Given the description of an element on the screen output the (x, y) to click on. 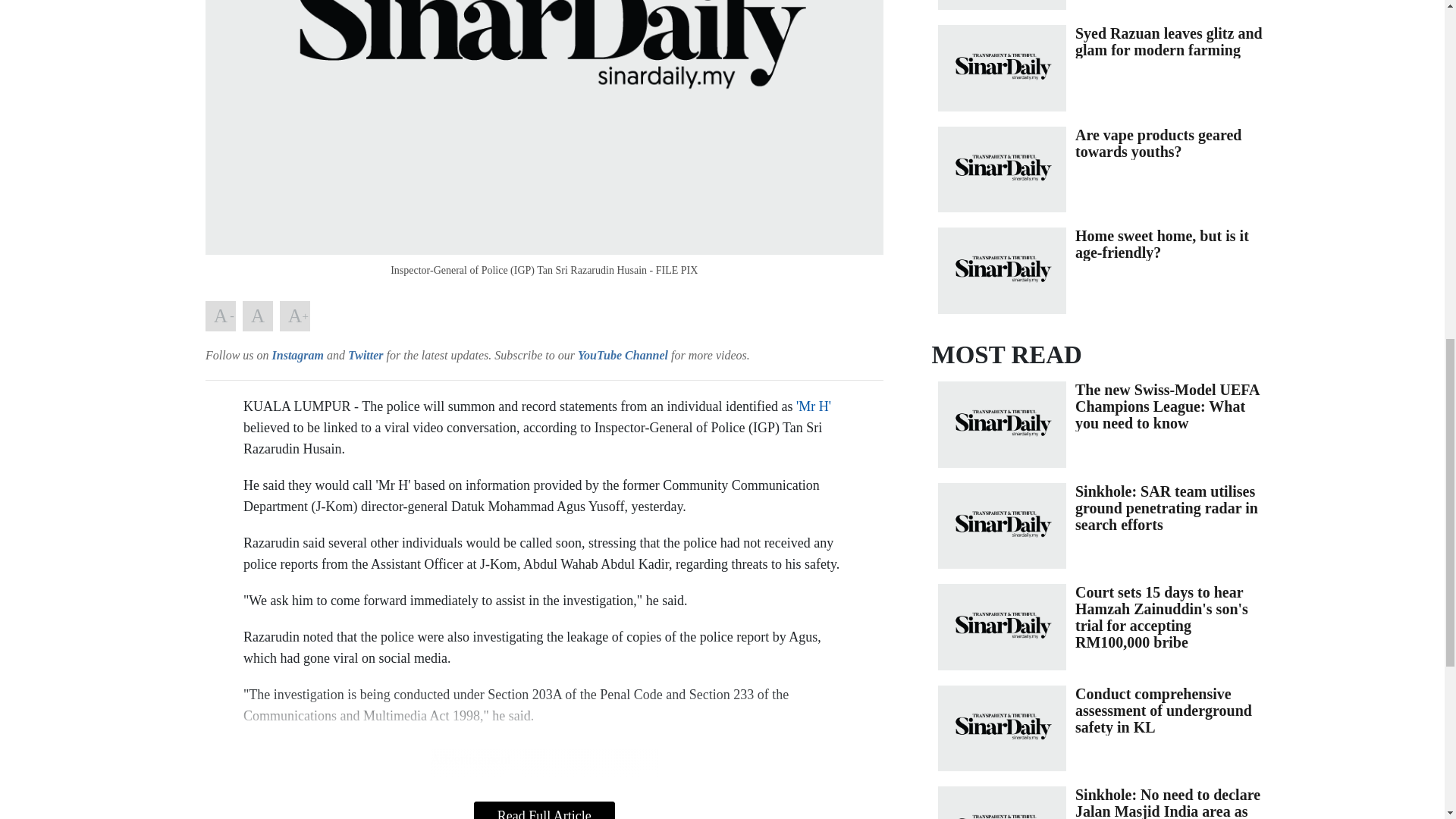
Teks Asal (258, 316)
Teks Kecil (220, 316)
Teks Besar (294, 316)
